Given the description of an element on the screen output the (x, y) to click on. 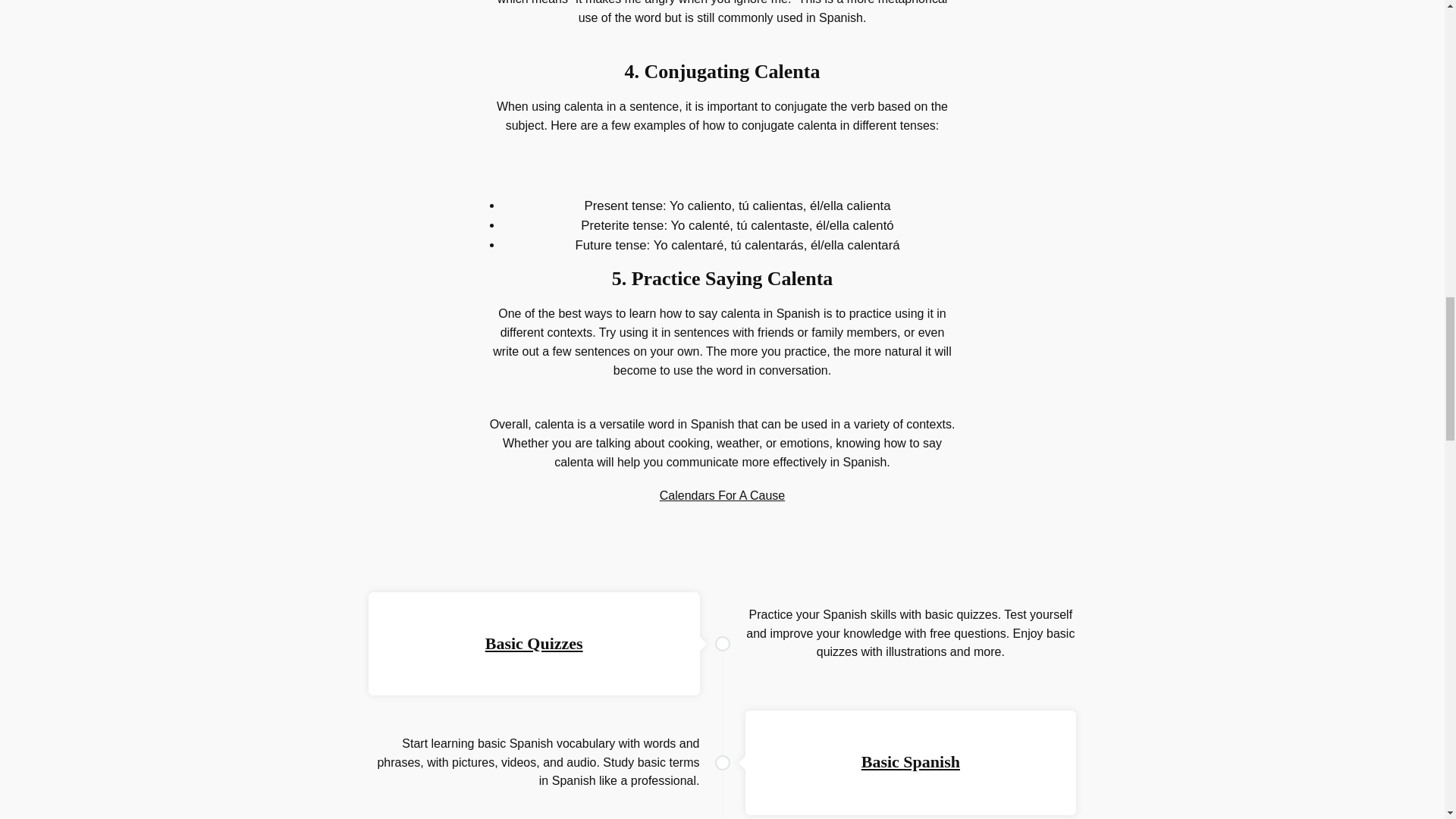
Basic Spanish (910, 761)
Basic Quizzes (533, 642)
Calendars For A Cause (721, 495)
